Given the description of an element on the screen output the (x, y) to click on. 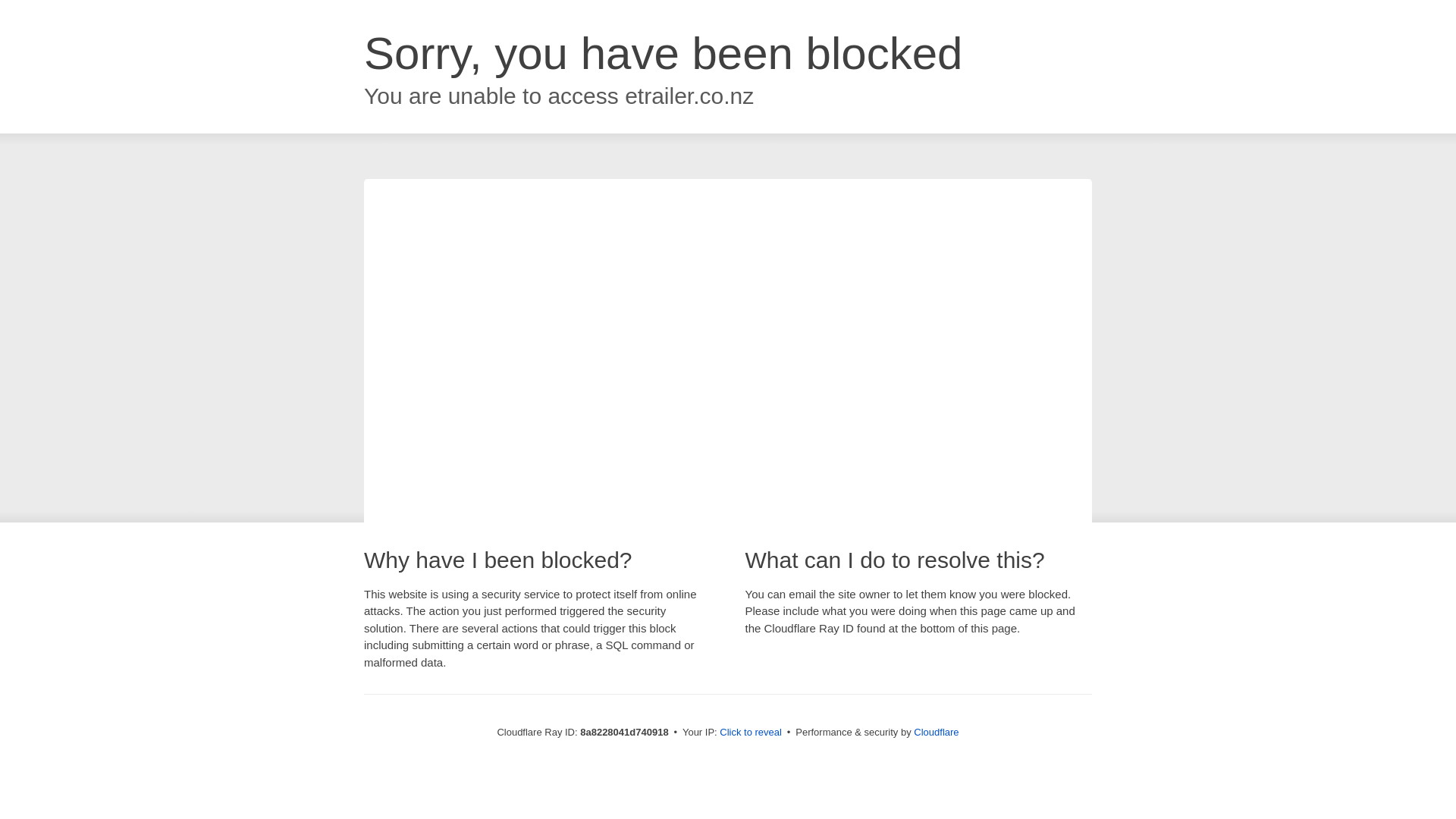
Cloudflare (936, 731)
Click to reveal (750, 732)
